Given the description of an element on the screen output the (x, y) to click on. 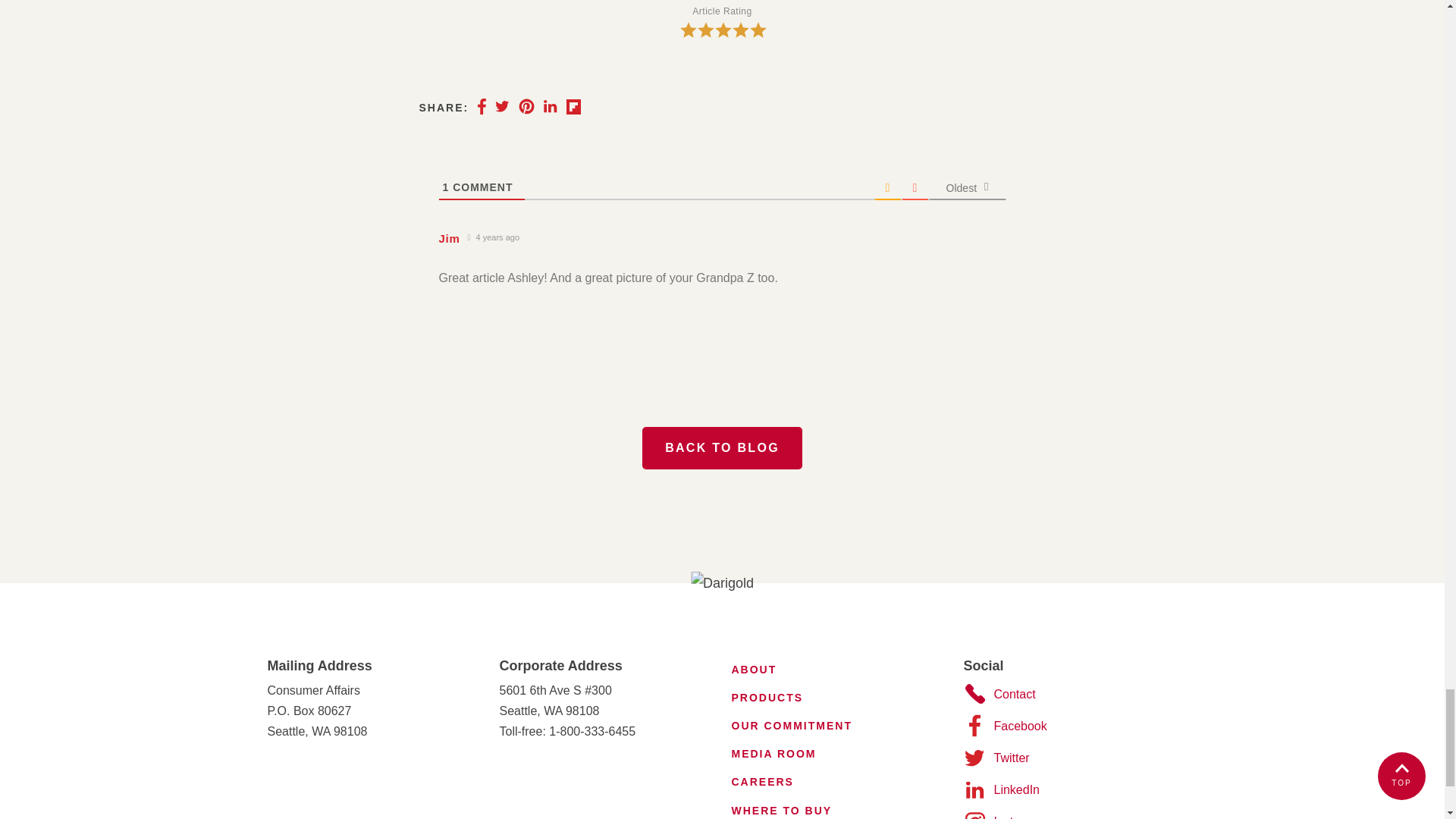
October 12, 2019 8:02 pm (492, 237)
